Given the description of an element on the screen output the (x, y) to click on. 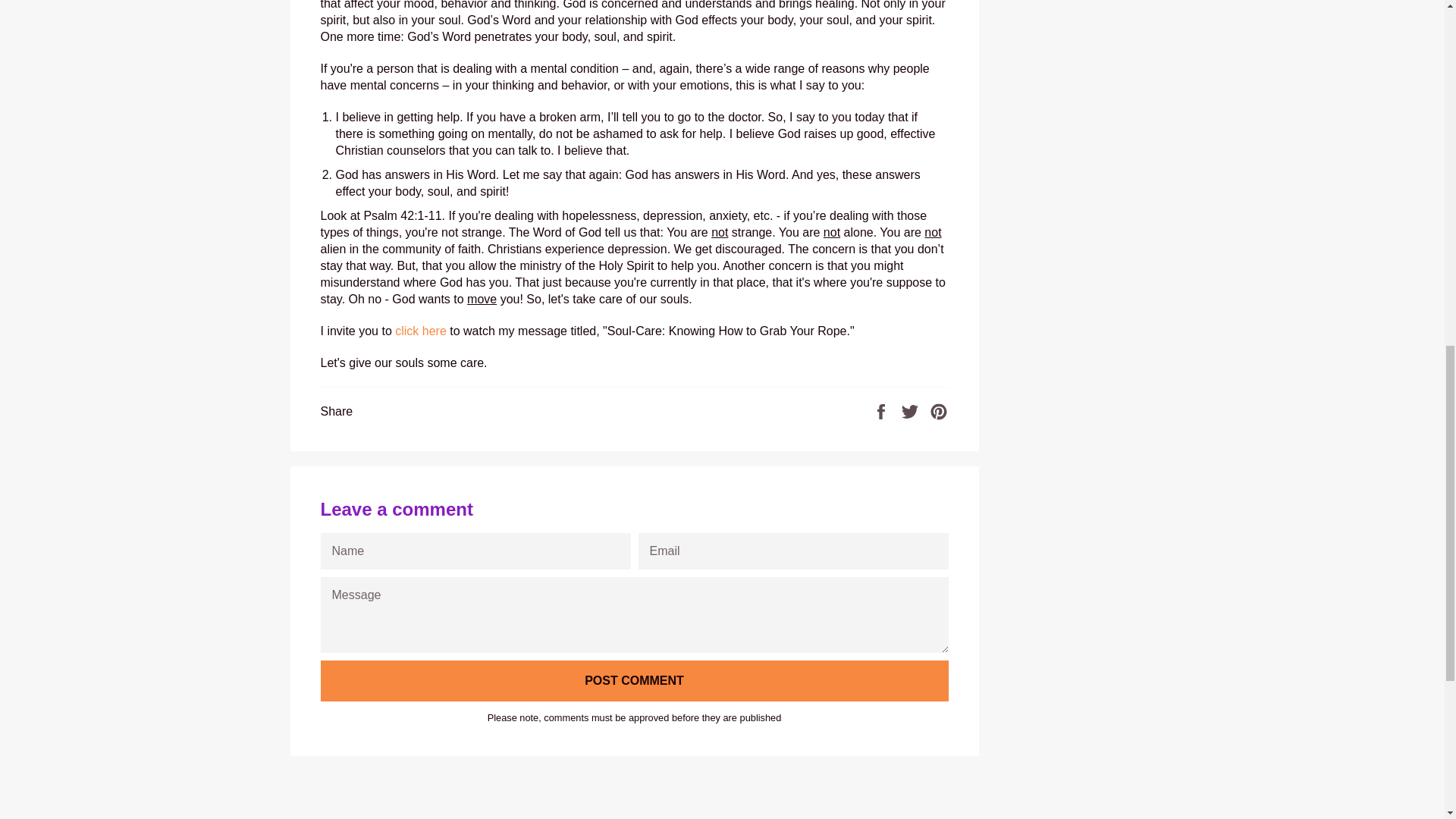
Pin on Pinterest (938, 410)
Share on Facebook (882, 410)
Post comment (633, 680)
Tweet on Twitter (911, 410)
